Given the description of an element on the screen output the (x, y) to click on. 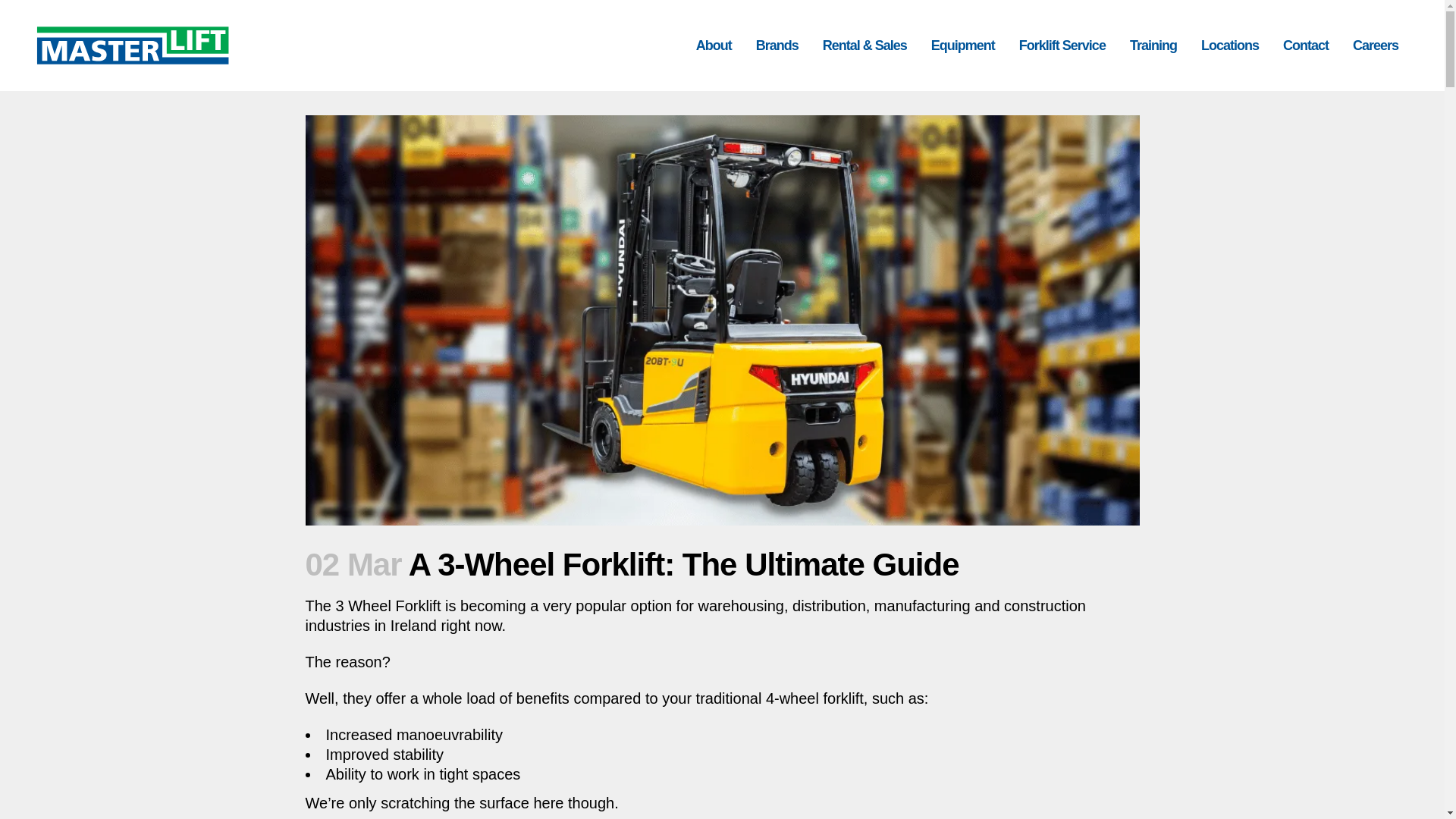
Equipment (962, 45)
Forklift Service (1062, 45)
Locations (1230, 45)
